Given the description of an element on the screen output the (x, y) to click on. 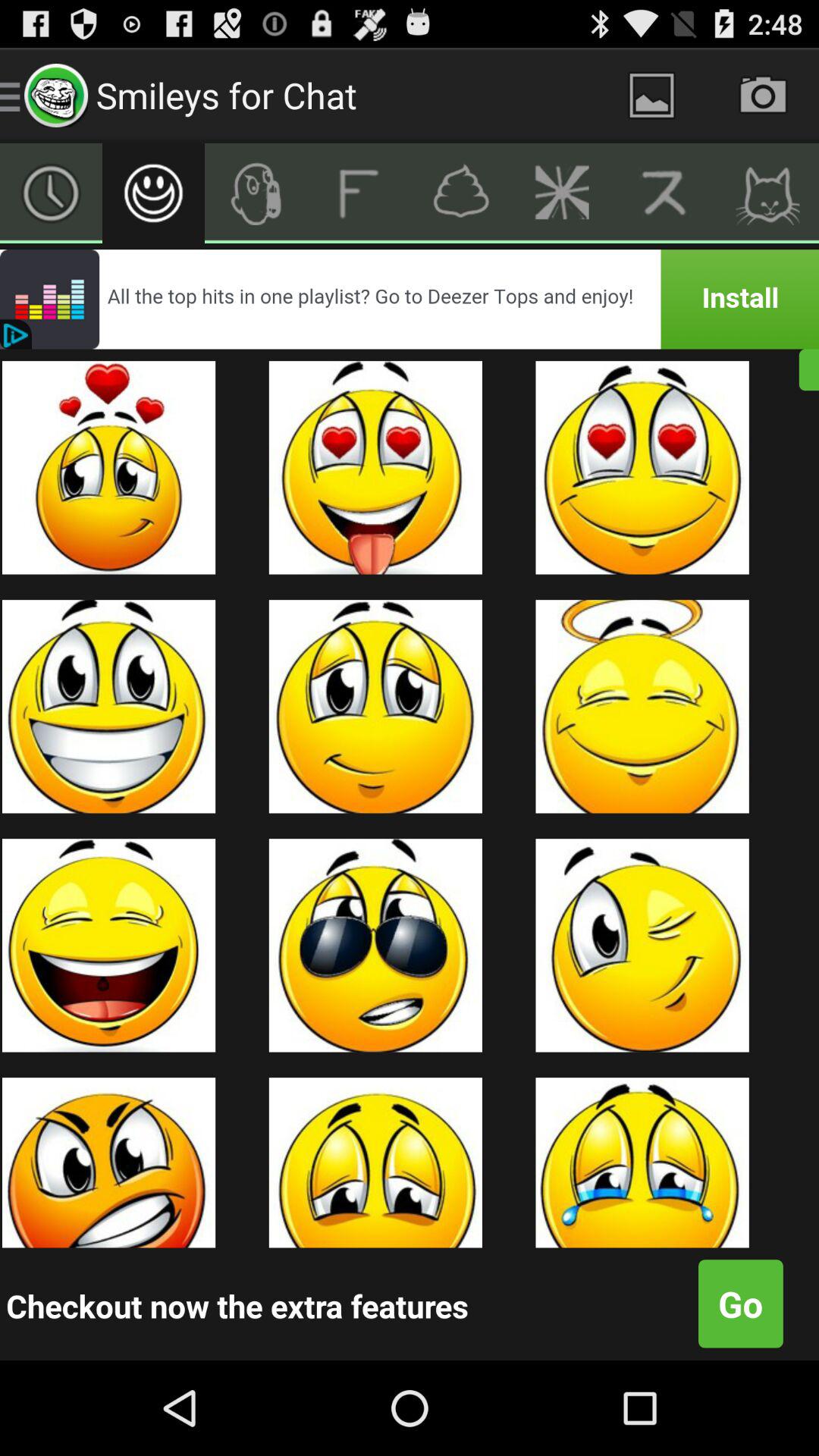
smile emoji (153, 193)
